Given the description of an element on the screen output the (x, y) to click on. 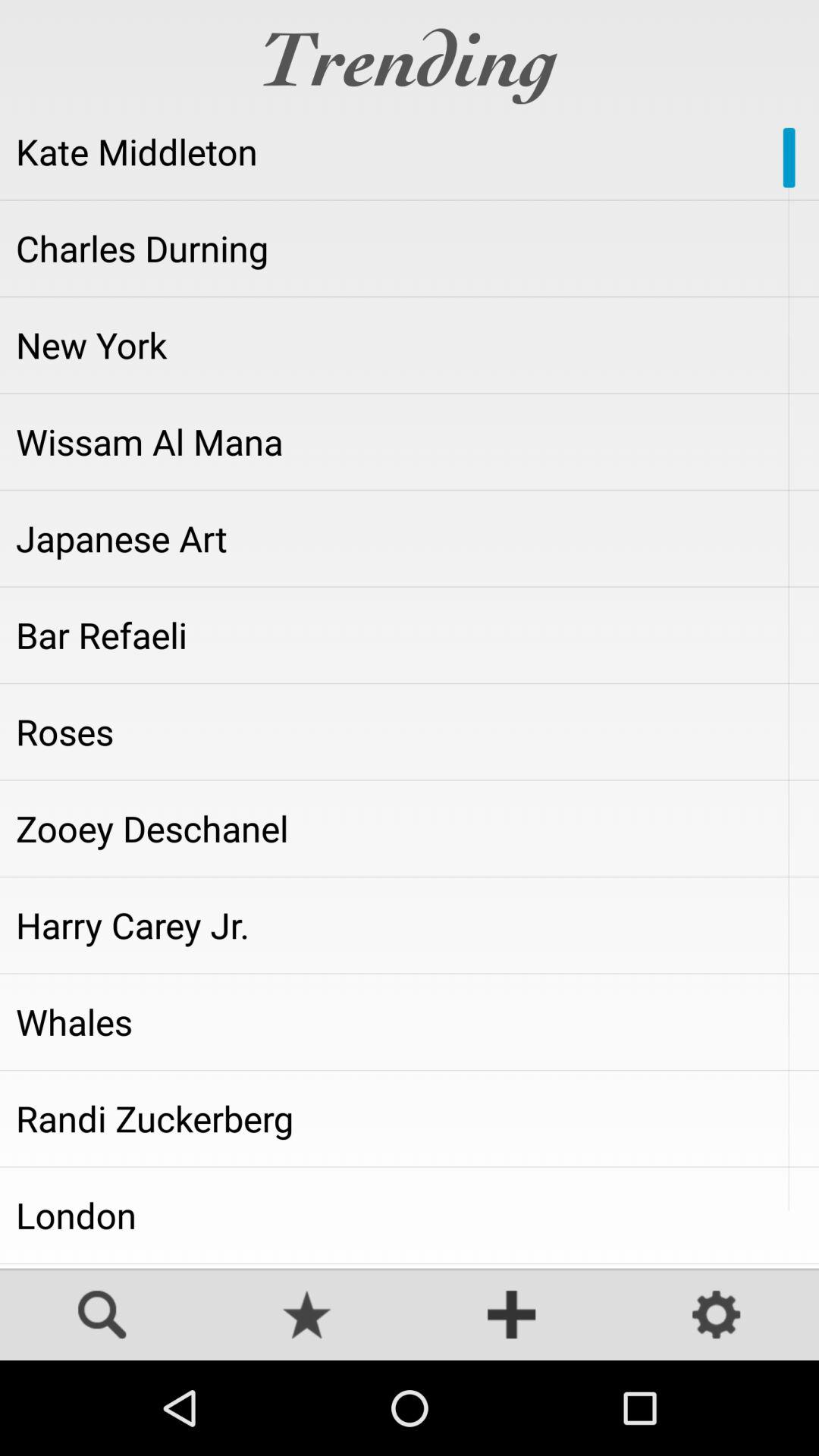
choose the icon below the kate middleton item (409, 248)
